Given the description of an element on the screen output the (x, y) to click on. 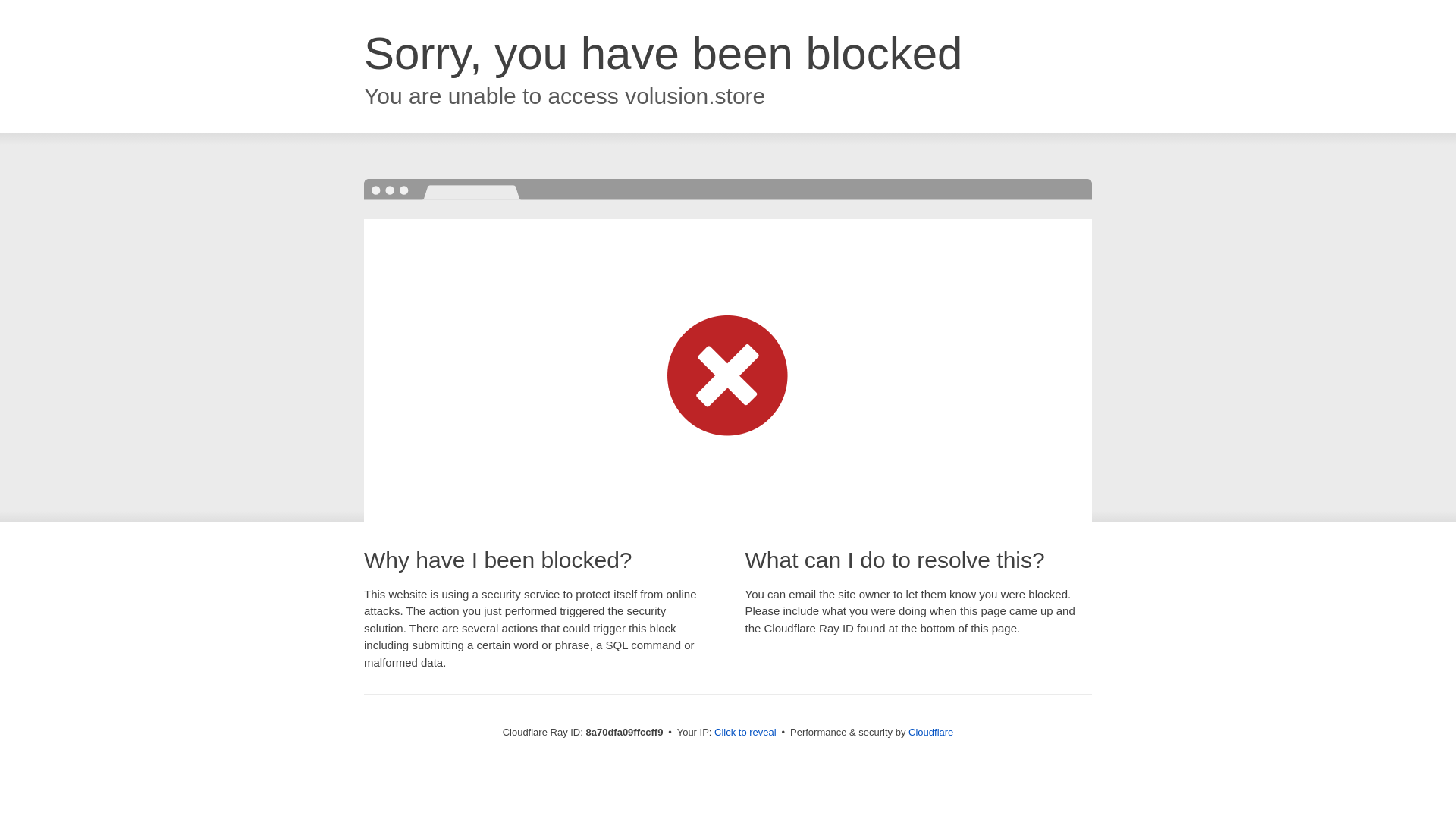
Cloudflare (930, 731)
Click to reveal (745, 732)
